Given the description of an element on the screen output the (x, y) to click on. 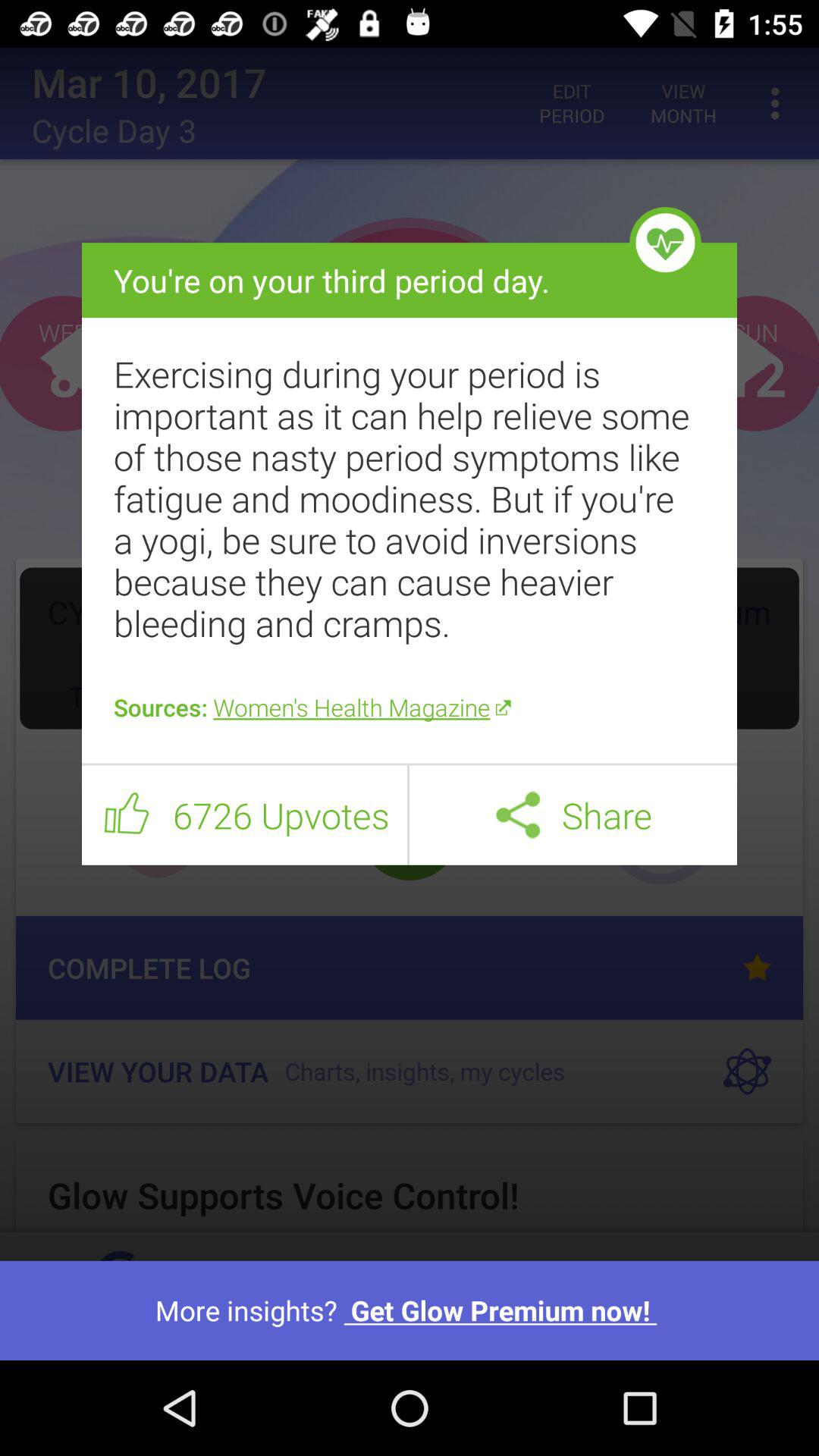
launch item next to 6726 upvotes (126, 815)
